Given the description of an element on the screen output the (x, y) to click on. 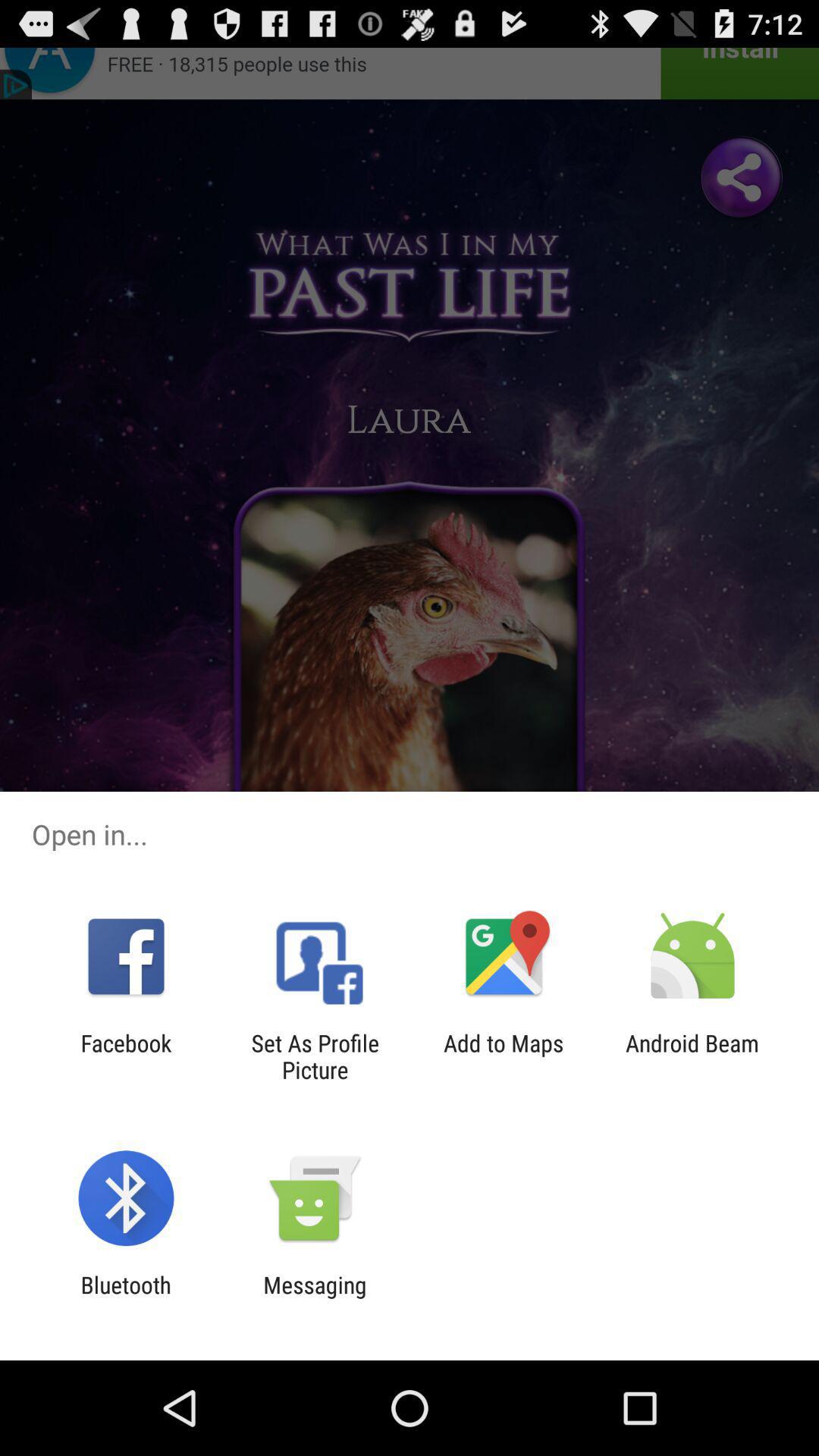
swipe to bluetooth icon (125, 1298)
